Given the description of an element on the screen output the (x, y) to click on. 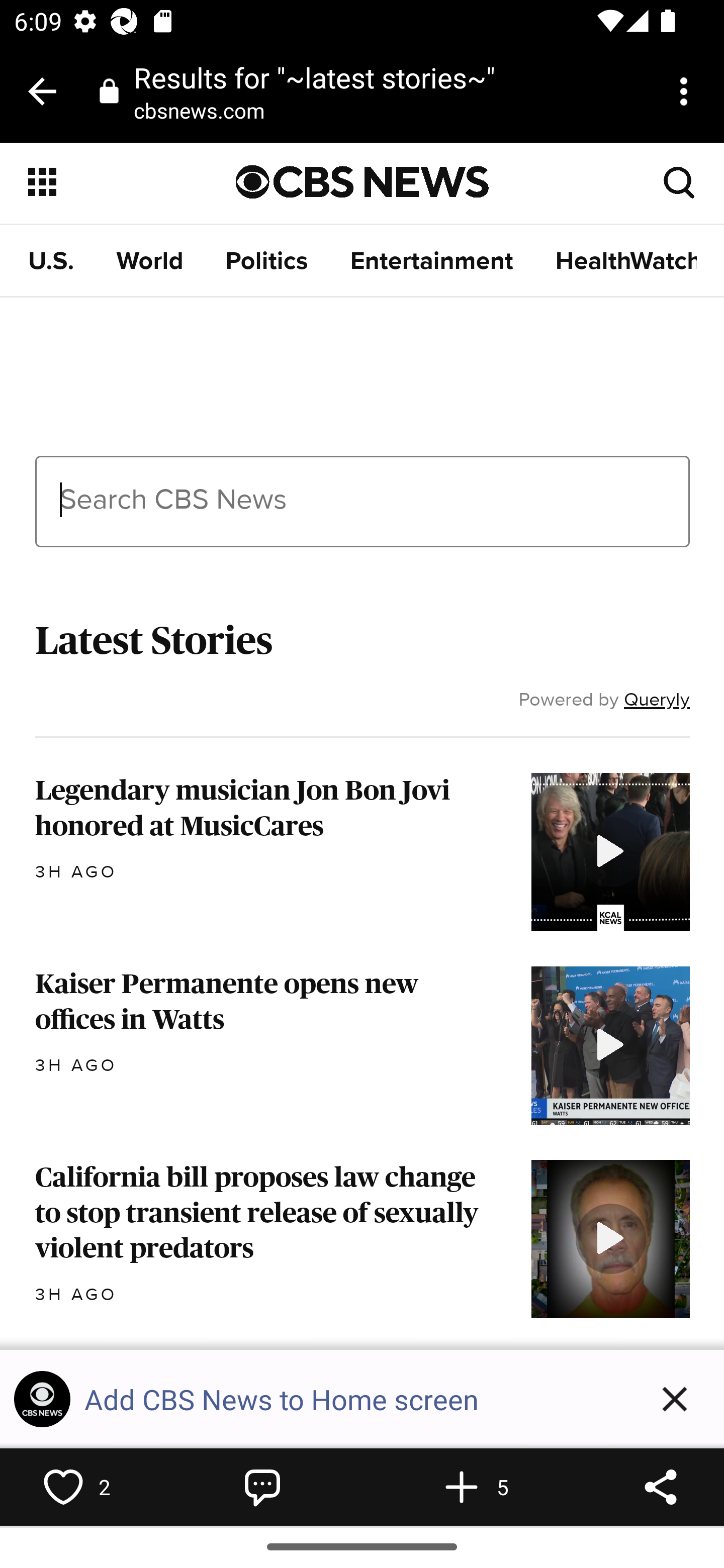
Close tab (42, 91)
More options (687, 91)
Connection is secure (108, 90)
cbsnews.com (205, 109)
#search-form: (679, 180)
Go to CBS News National home page (362, 181)
Open the site navigation (132, 181)
U.S. (51, 260)
World (149, 260)
Politics (267, 260)
Entertainment (431, 260)
HealthWatch (625, 260)
Queryly (656, 698)
Add CBS News to Home screen (354, 1399)
Close (674, 1399)
Like (63, 1486)
Write a comment… (262, 1486)
Flip into Magazine (461, 1486)
Share (660, 1486)
